Given the description of an element on the screen output the (x, y) to click on. 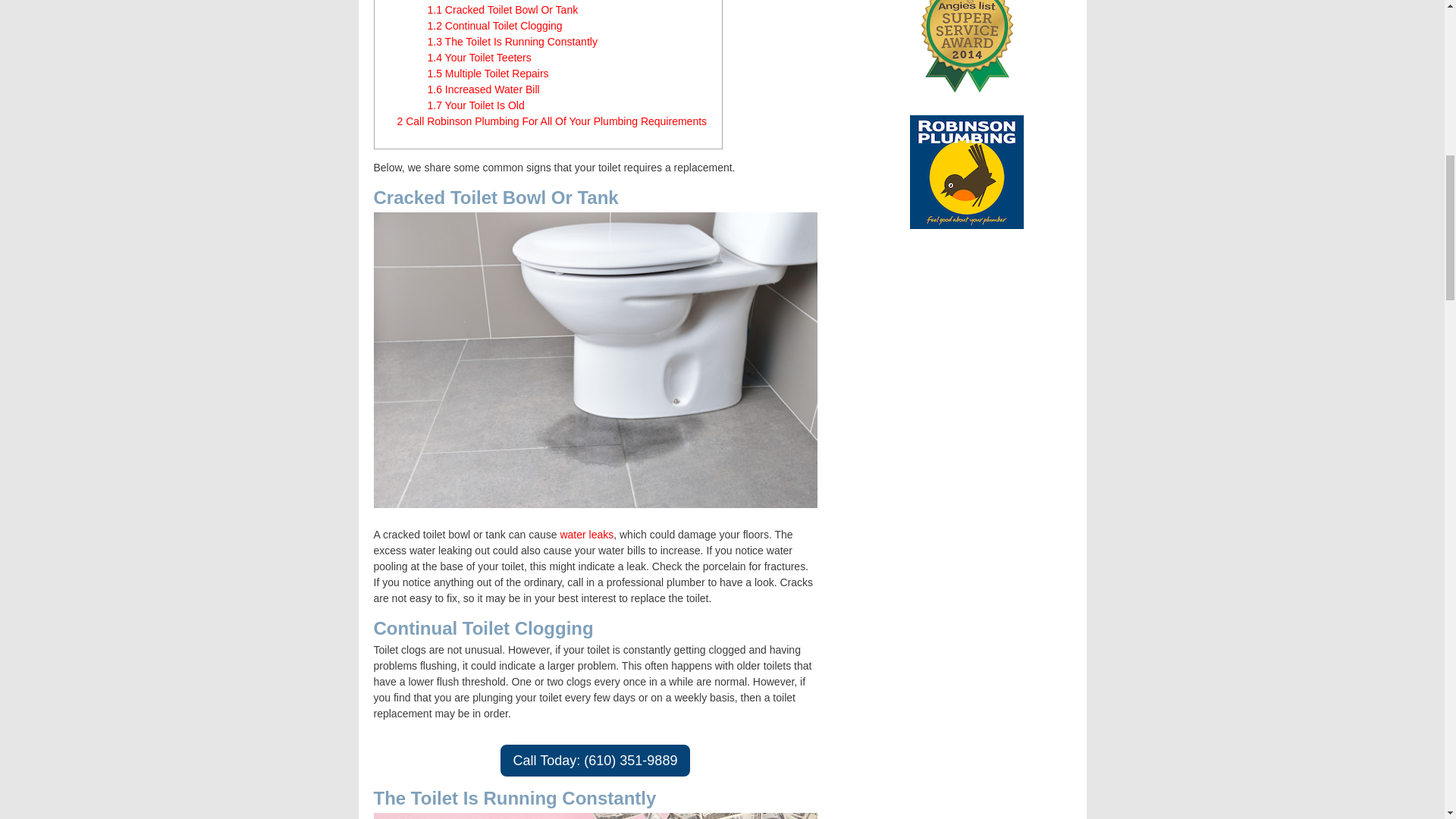
1.5 Multiple Toilet Repairs (488, 73)
1.6 Increased Water Bill (484, 89)
1.2 Continual Toilet Clogging (495, 25)
water leaks (585, 534)
1.1 Cracked Toilet Bowl Or Tank (503, 9)
1.3 The Toilet Is Running Constantly (512, 41)
1.7 Your Toilet Is Old (476, 105)
1.4 Your Toilet Teeters (479, 57)
